Given the description of an element on the screen output the (x, y) to click on. 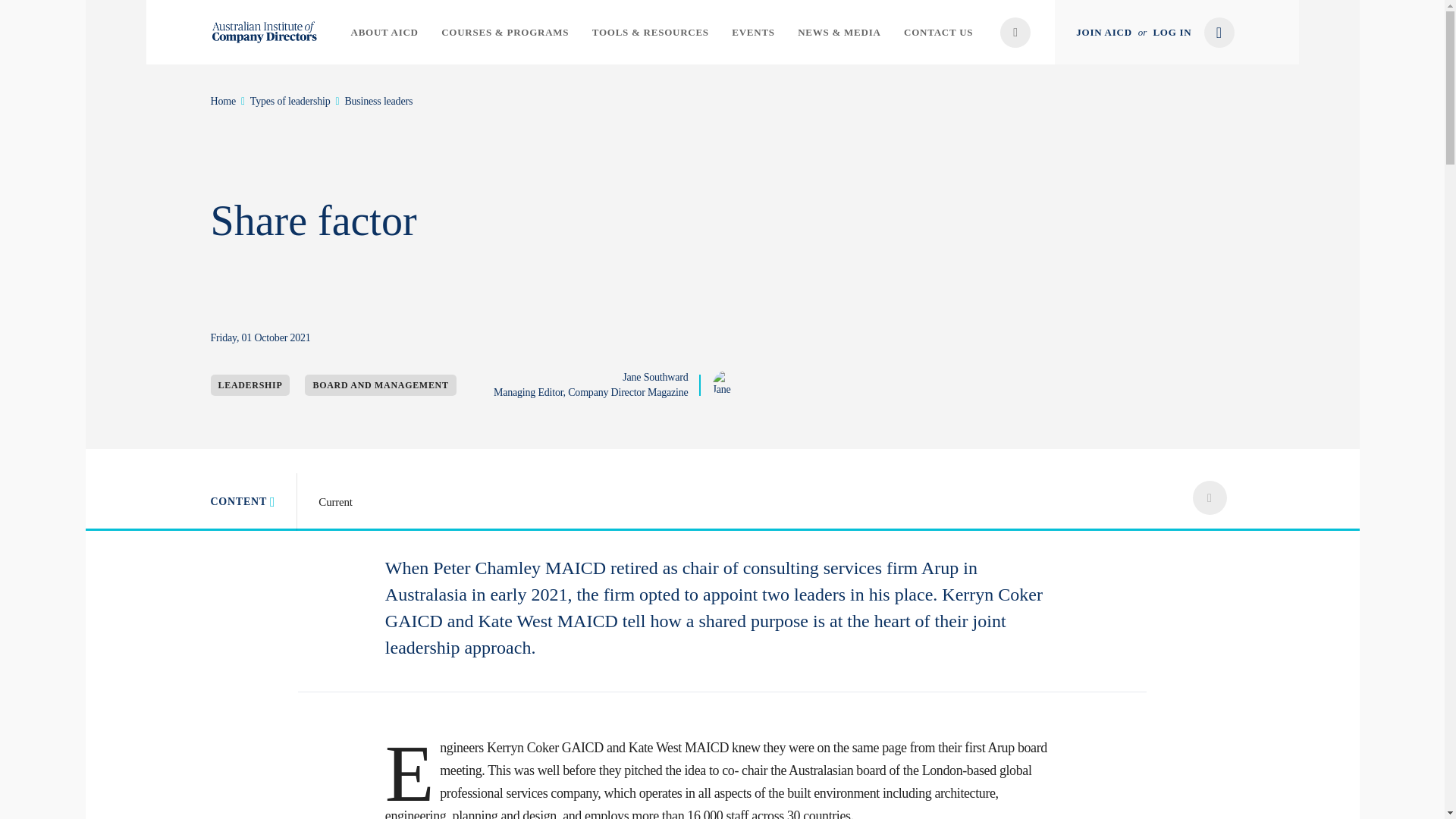
ABOUT AICD (383, 32)
social share icons (1208, 497)
